Given the description of an element on the screen output the (x, y) to click on. 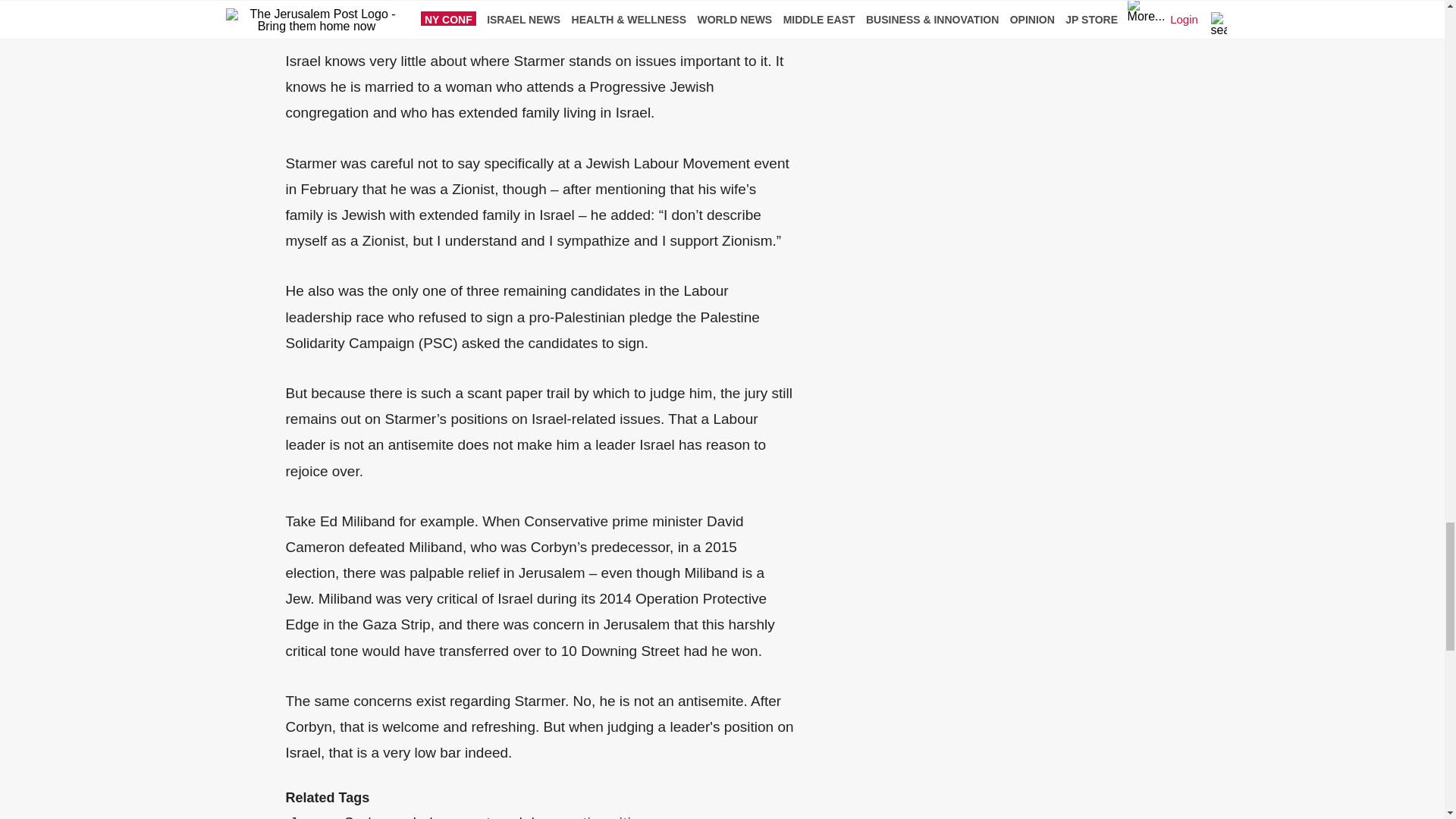
labour antisemitism (584, 816)
Jeremy Corbyn (340, 816)
Labour party (456, 816)
Labour party (456, 816)
Jeremy Corbyn (340, 816)
labour antisemitism (584, 816)
